Given the description of an element on the screen output the (x, y) to click on. 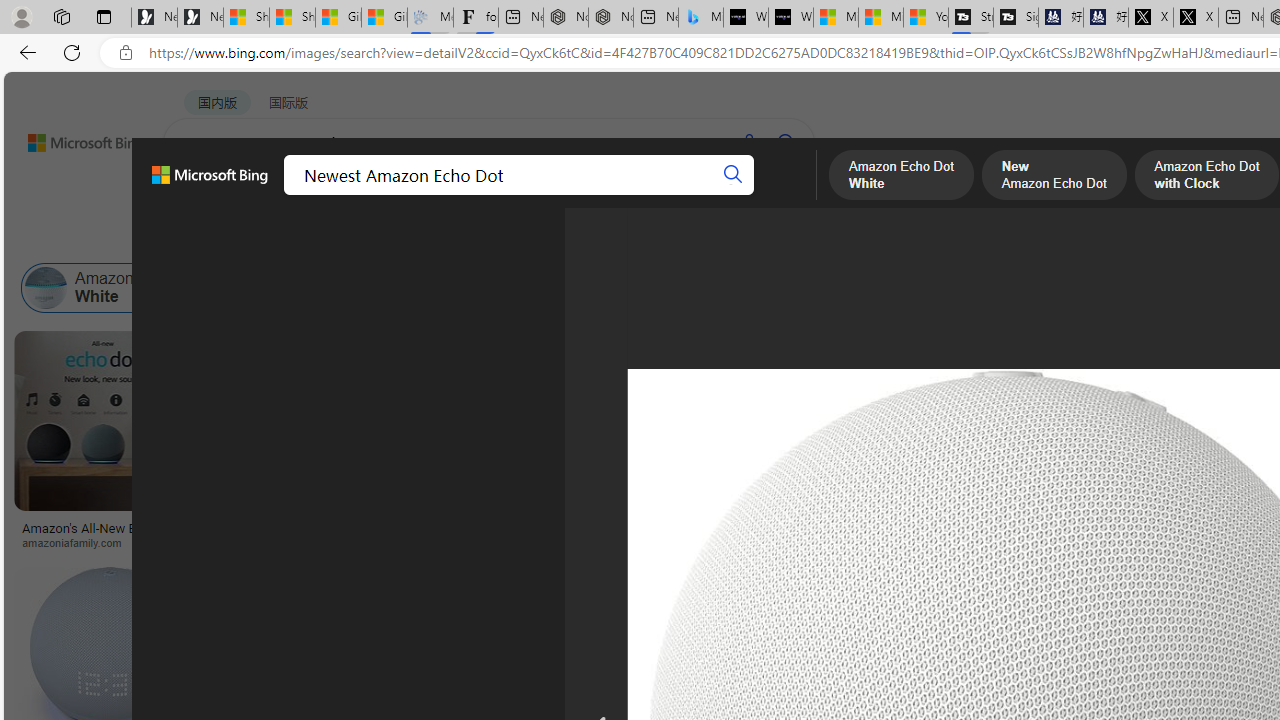
People (521, 237)
Search button (732, 174)
Newsletter Sign Up (199, 17)
DICT (630, 195)
IMAGES (274, 195)
New Amazon Echo Dot (257, 287)
Class: item col (969, 287)
License (665, 237)
Layout (443, 237)
